Given the description of an element on the screen output the (x, y) to click on. 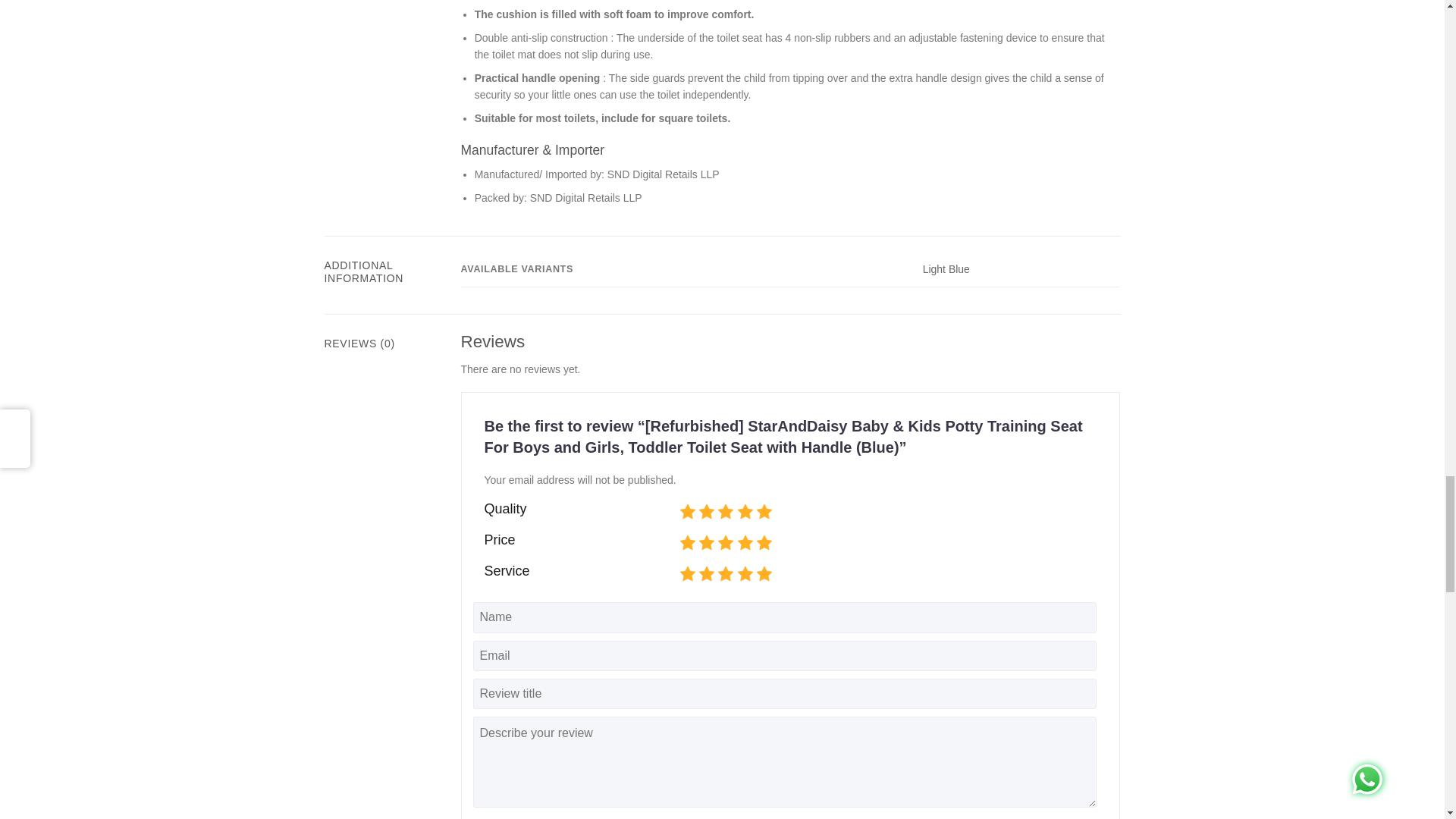
2 (682, 543)
2 (682, 512)
1 (682, 512)
4 (682, 574)
5 (682, 512)
3 (682, 512)
1 (682, 543)
5 (682, 574)
1 (682, 574)
5 (682, 543)
4 (682, 512)
4 (682, 543)
3 (682, 543)
3 (682, 574)
2 (682, 574)
